Given the description of an element on the screen output the (x, y) to click on. 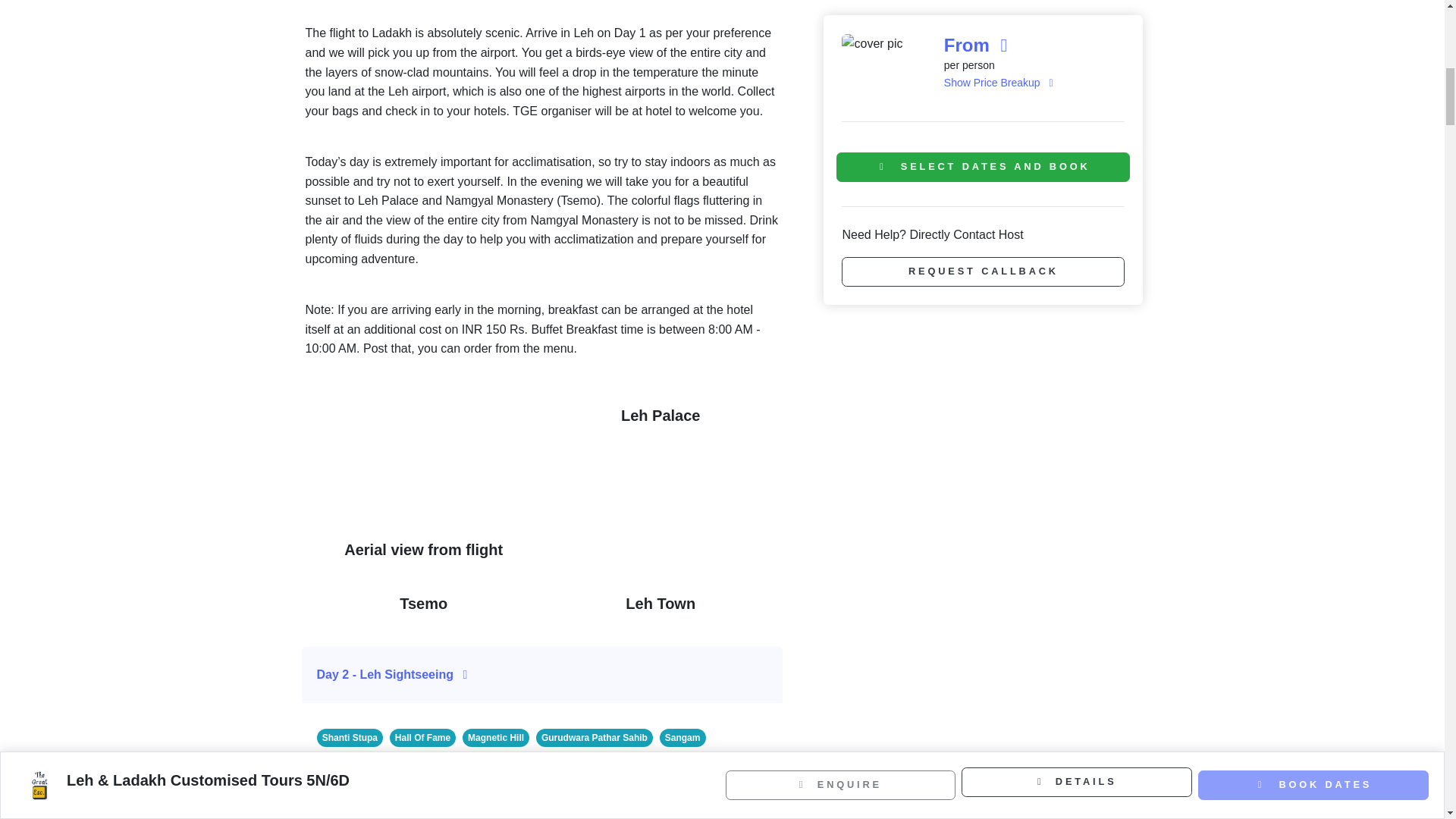
Day 2 - Leh Sightseeing (542, 674)
